Given the description of an element on the screen output the (x, y) to click on. 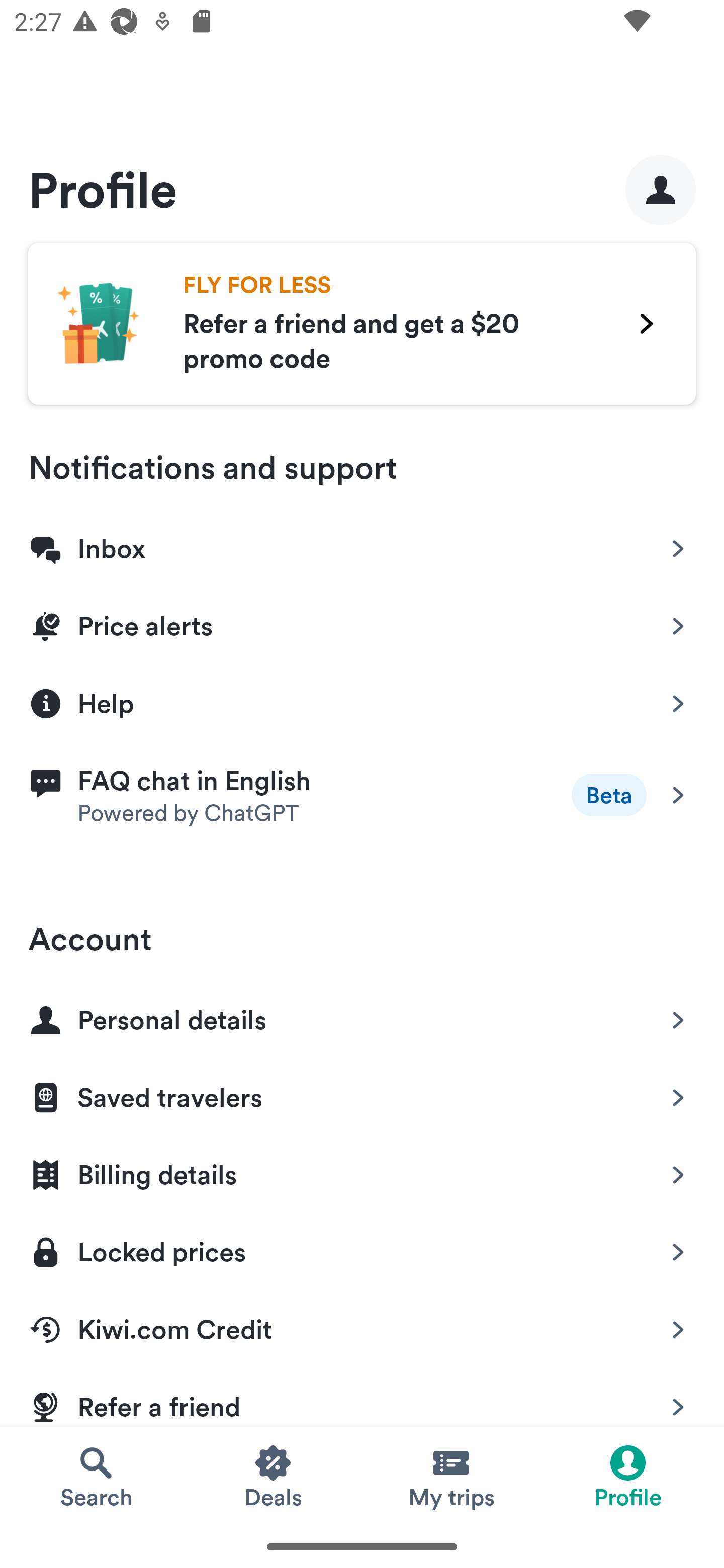
profile picture (660, 189)
Inbox (362, 544)
Price alerts (362, 622)
Help (362, 701)
Beta FAQ chat in English Powered by ChatGPT (362, 794)
Personal details (362, 1016)
Saved travelers (362, 1093)
Billing details (362, 1171)
Locked prices (362, 1248)
Kiwi.com Credit (362, 1326)
Refer a friend (362, 1395)
Search (95, 1475)
Deals (273, 1475)
My trips (450, 1475)
